Given the description of an element on the screen output the (x, y) to click on. 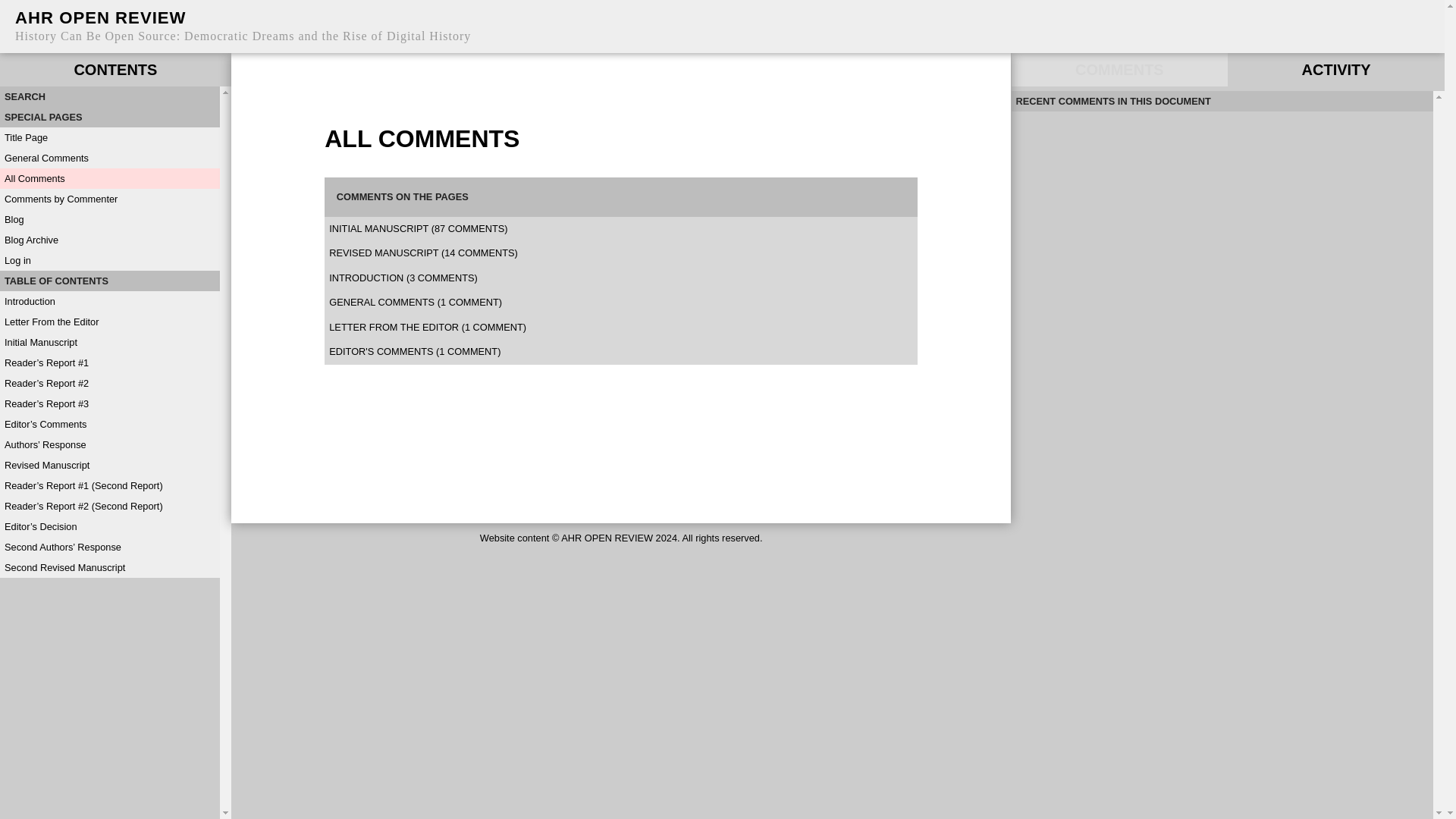
Blog Archive (109, 240)
Letter From the Editor (109, 322)
Comments by Commenter (109, 199)
Comments by Commenter (109, 199)
Revised Manuscript (109, 465)
Blog Archive (109, 240)
Initial Manuscript (109, 342)
Blog (109, 219)
Home (100, 17)
All Comments (109, 178)
Title Page (109, 137)
All Comments (109, 178)
General Comments (109, 158)
Log in (109, 260)
Title Page (109, 137)
